Given the description of an element on the screen output the (x, y) to click on. 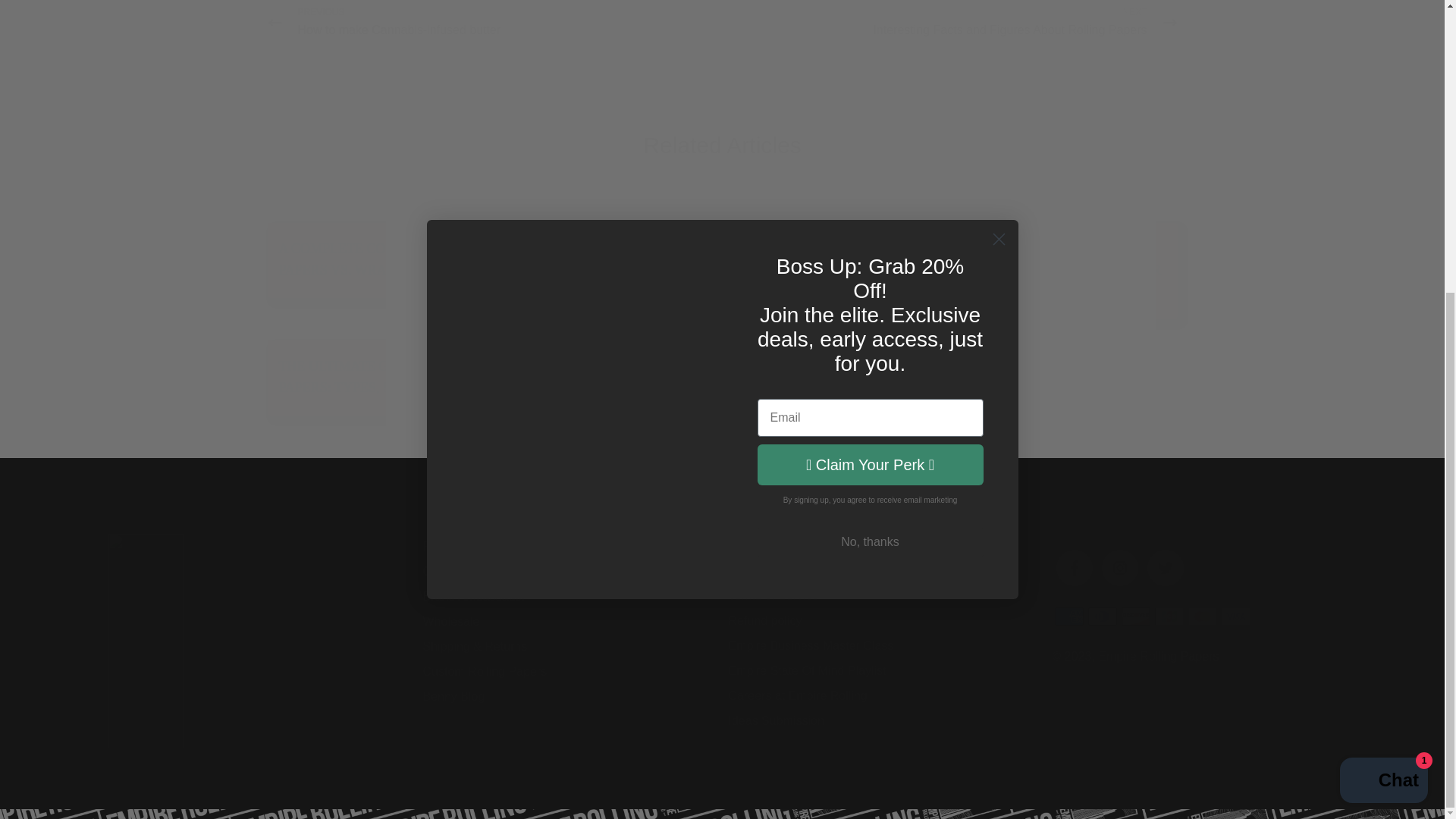
Shopify online store chat (494, 23)
